Given the description of an element on the screen output the (x, y) to click on. 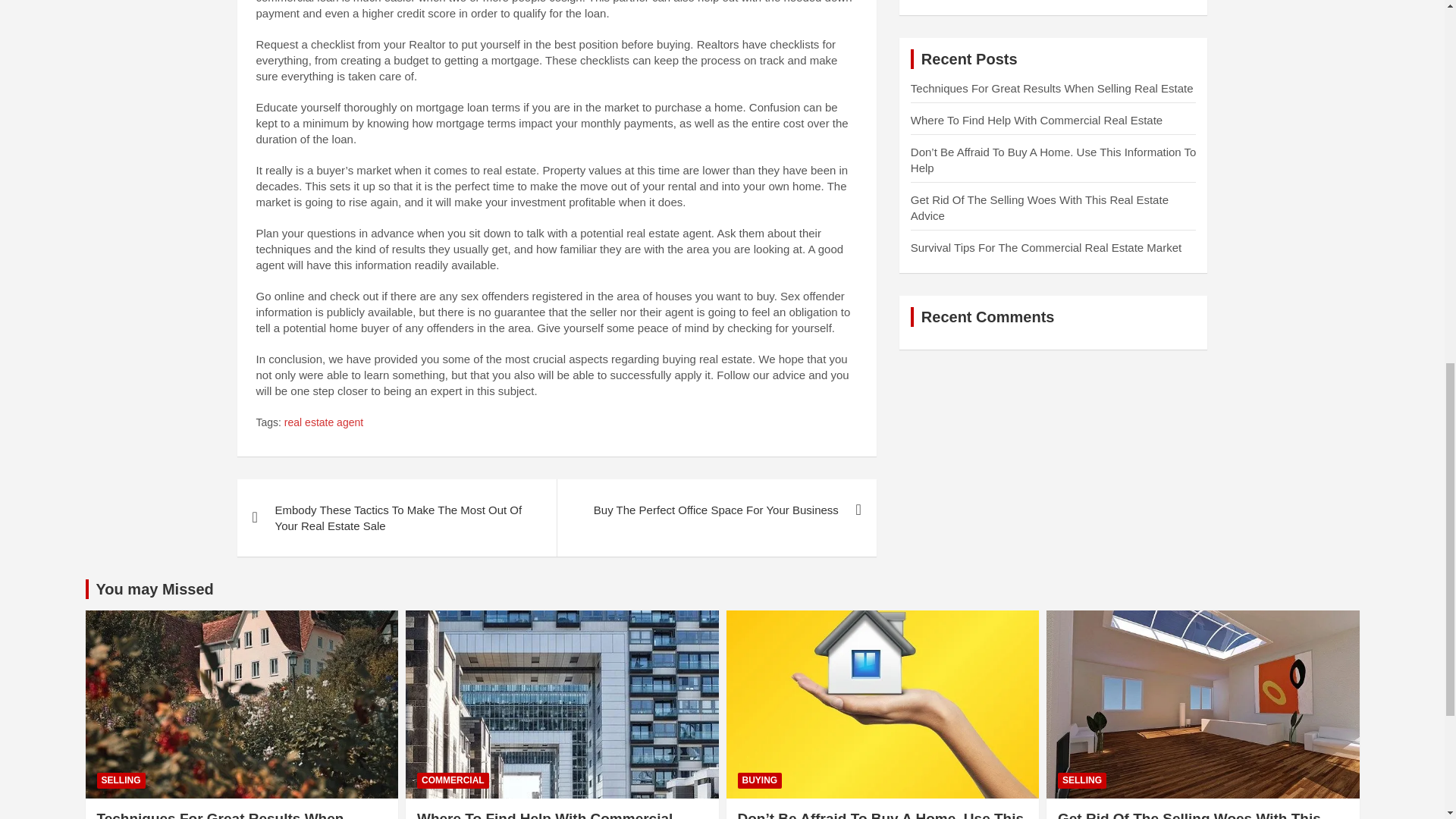
COMMERCIAL (452, 780)
Buy The Perfect Office Space For Your Business (716, 509)
SELLING (121, 780)
SELLING (1082, 780)
real estate agent (322, 422)
Techniques For Great Results When Selling Real Estate (220, 814)
Techniques For Great Results When Selling Real Estate (1052, 88)
BUYING (758, 780)
Where To Find Help With Commercial Real Estate (544, 814)
Where To Find Help With Commercial Real Estate (1036, 119)
Survival Tips For The Commercial Real Estate Market (1045, 246)
Get Rid Of The Selling Woes With This Real Estate Advice (1040, 207)
